Given the description of an element on the screen output the (x, y) to click on. 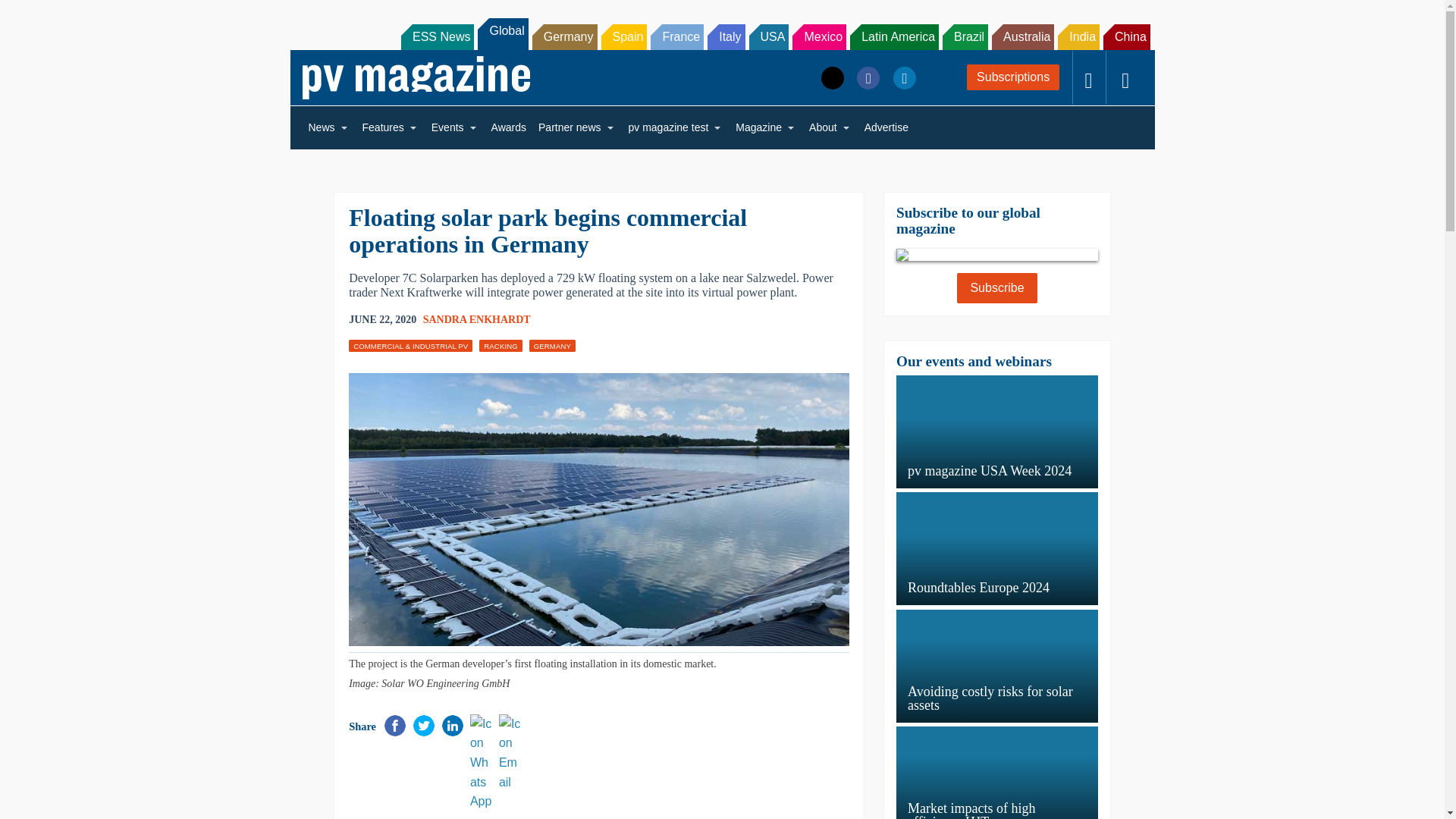
France (676, 36)
India (1078, 36)
USA (769, 36)
ESS News (437, 36)
Latin America (894, 36)
Posts by Sandra Enkhardt (477, 319)
Italy (725, 36)
China (1126, 36)
Monday, June 22, 2020, 4:23 pm (382, 320)
pv magazine - Photovoltaics Markets and Technology (415, 77)
